Given the description of an element on the screen output the (x, y) to click on. 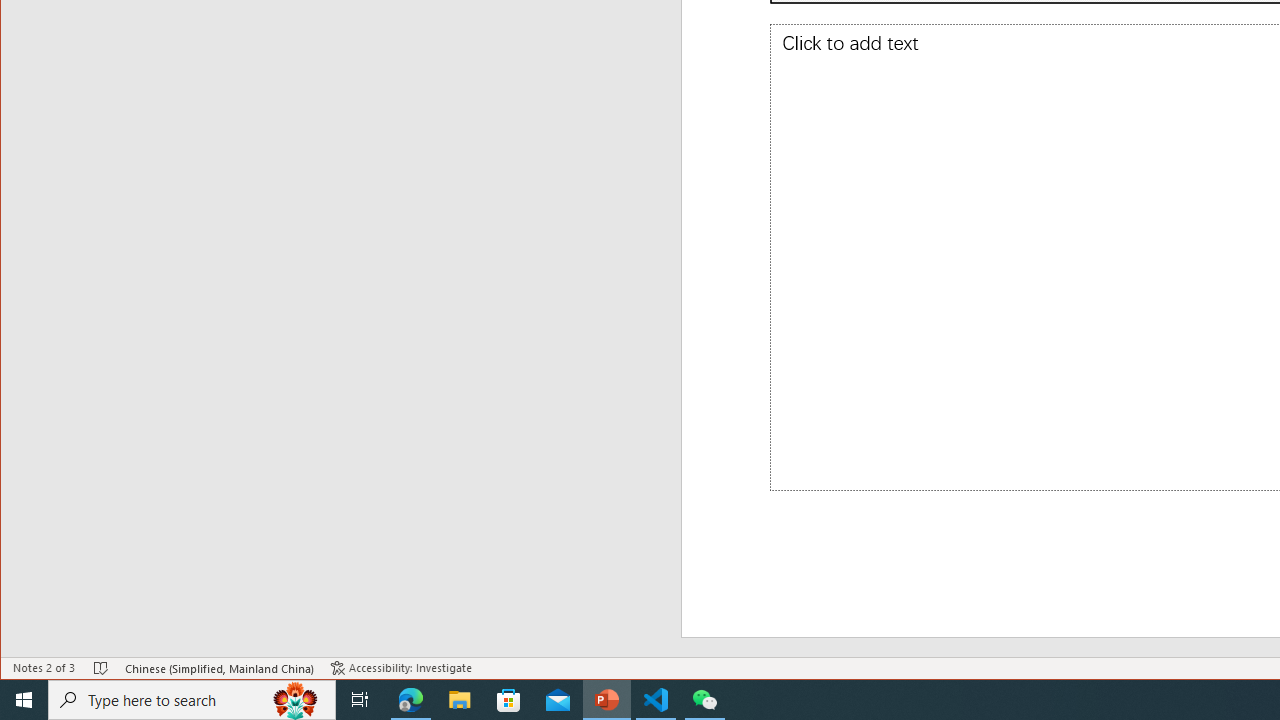
WeChat - 1 running window (704, 699)
